Given the description of an element on the screen output the (x, y) to click on. 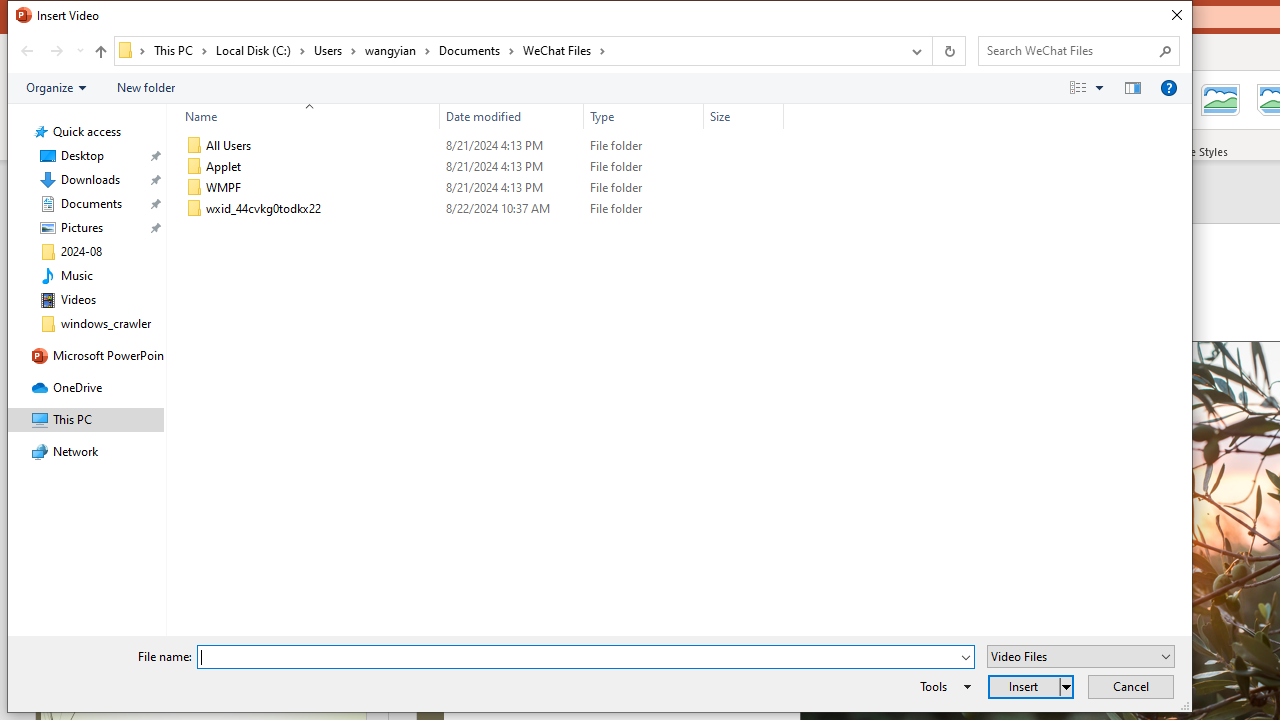
All Users (480, 145)
Type (643, 209)
Up band toolbar (100, 54)
Date modified (511, 209)
Size (743, 209)
WMPF (480, 187)
Class: UIImage (194, 209)
Size (743, 115)
File name: (577, 657)
Preview pane (1132, 87)
Search Box (1069, 50)
wxid_44cvkg0todkx22 (480, 209)
Back (Alt + Left Arrow) (26, 51)
